Given the description of an element on the screen output the (x, y) to click on. 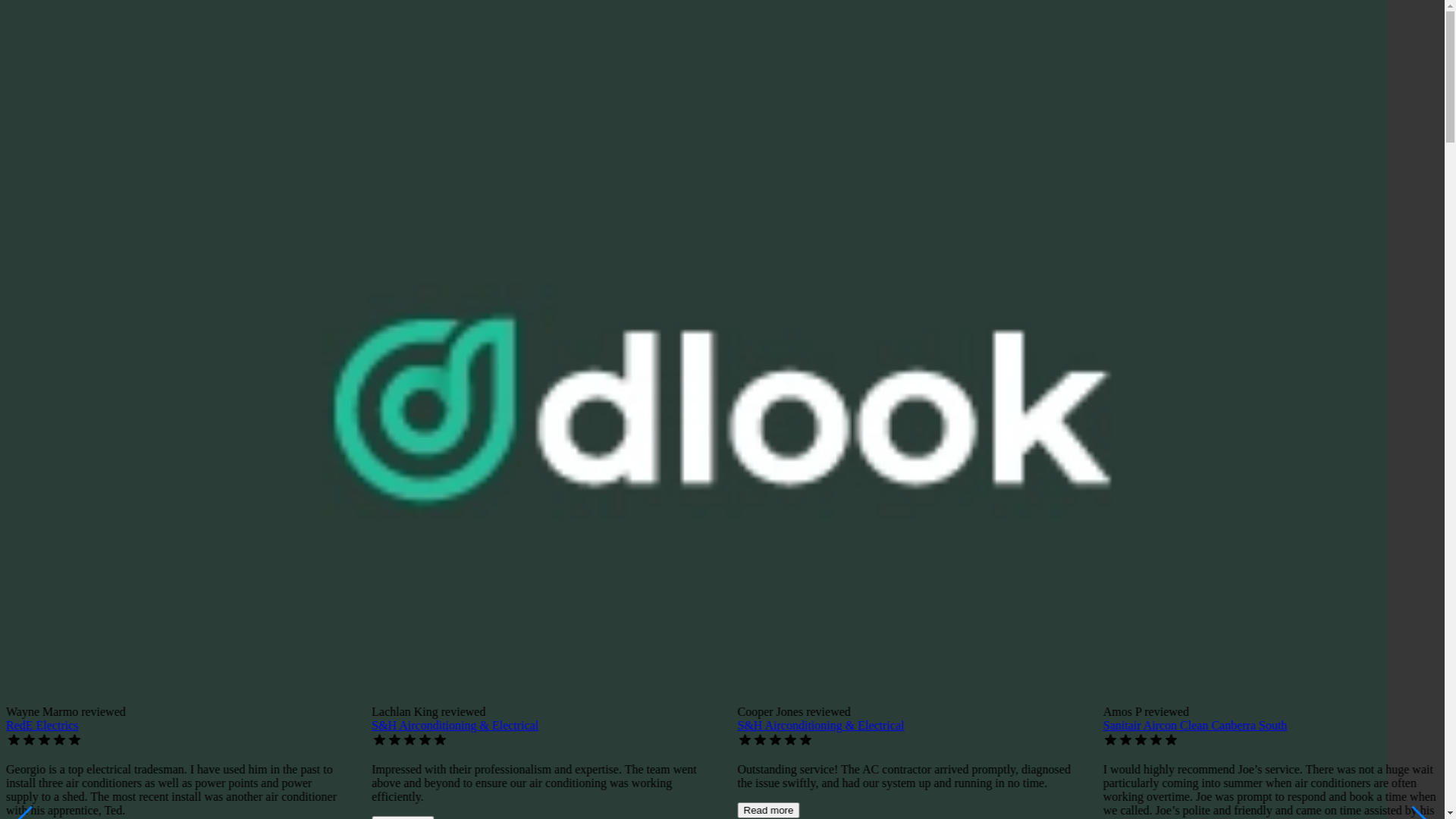
RedE Electrics Element type: text (42, 724)
Add your business Element type: text (85, 145)
Get a quote its free! Element type: text (60, 328)
Get a quote Element type: text (159, 145)
S&H Airconditioning & Electrical Element type: text (454, 724)
Sign in Element type: text (23, 145)
Sanitair Aircon Clean Canberra South Element type: text (1195, 724)
Read more Element type: text (768, 810)
Open main menu Element type: text (50, 91)
S&H Airconditioning & Electrical Element type: text (820, 724)
